Given the description of an element on the screen output the (x, y) to click on. 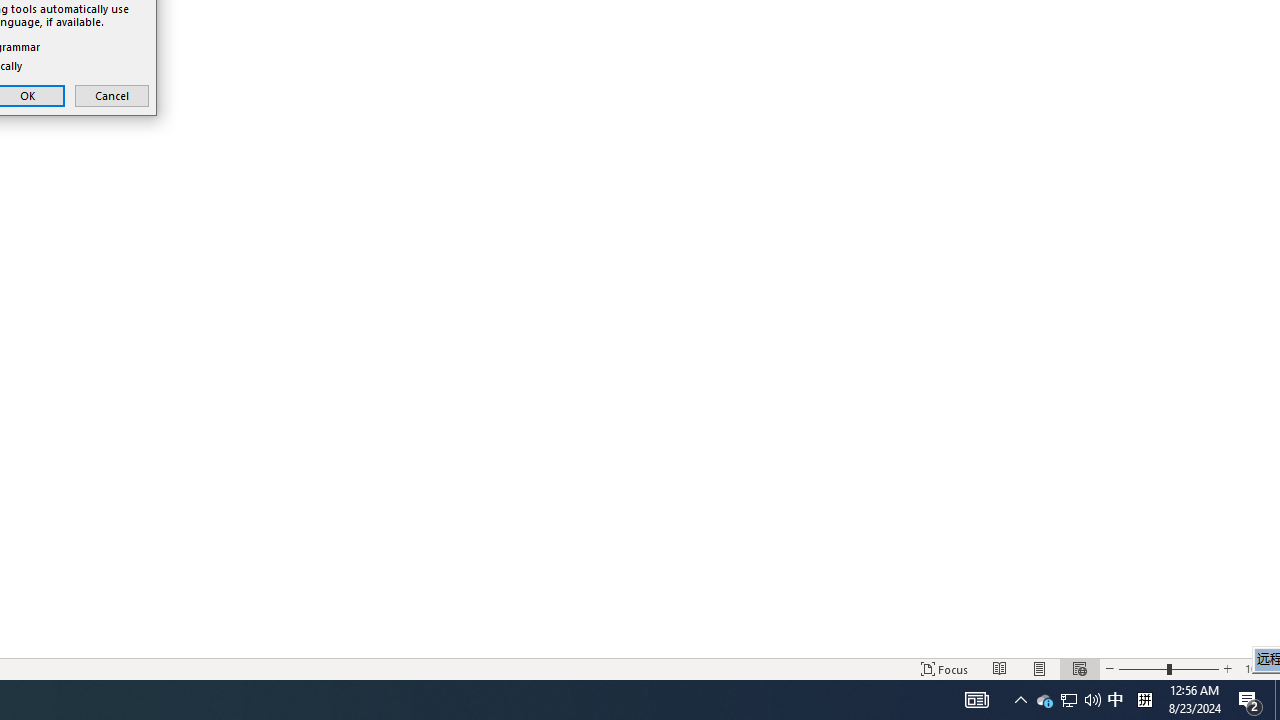
Zoom In (1115, 699)
AutomationID: 4105 (1069, 699)
User Promoted Notification Area (1227, 668)
Zoom Out (976, 699)
Q2790: 100% (1068, 699)
Tray Input Indicator - Chinese (Simplified, China) (1142, 668)
Show desktop (1092, 699)
Read Mode (1144, 699)
Cancel (1044, 699)
Web Layout (1277, 699)
Focus  (1000, 668)
